Given the description of an element on the screen output the (x, y) to click on. 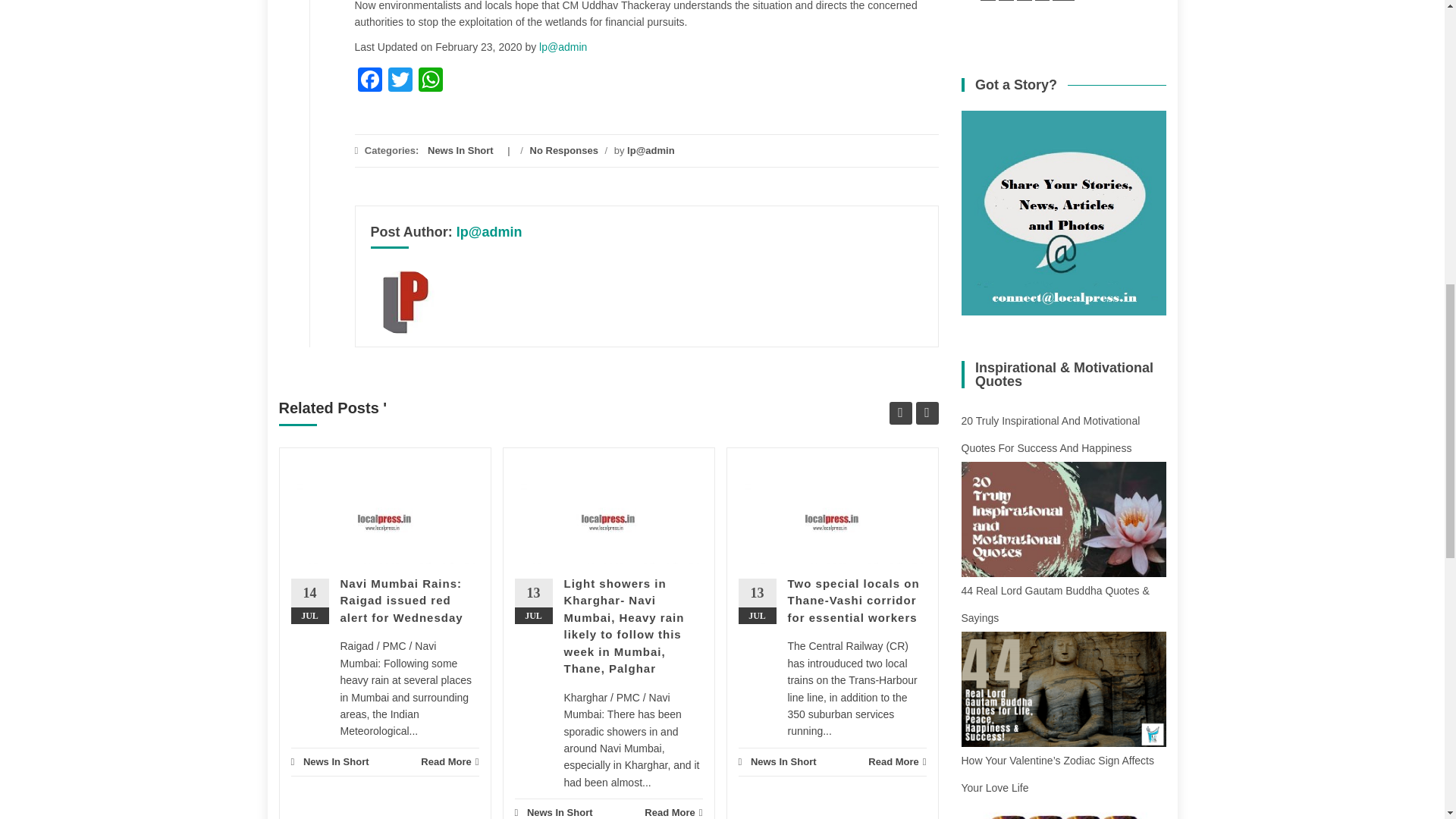
Twitter (399, 81)
Facebook (370, 81)
WhatsApp (429, 81)
